Given the description of an element on the screen output the (x, y) to click on. 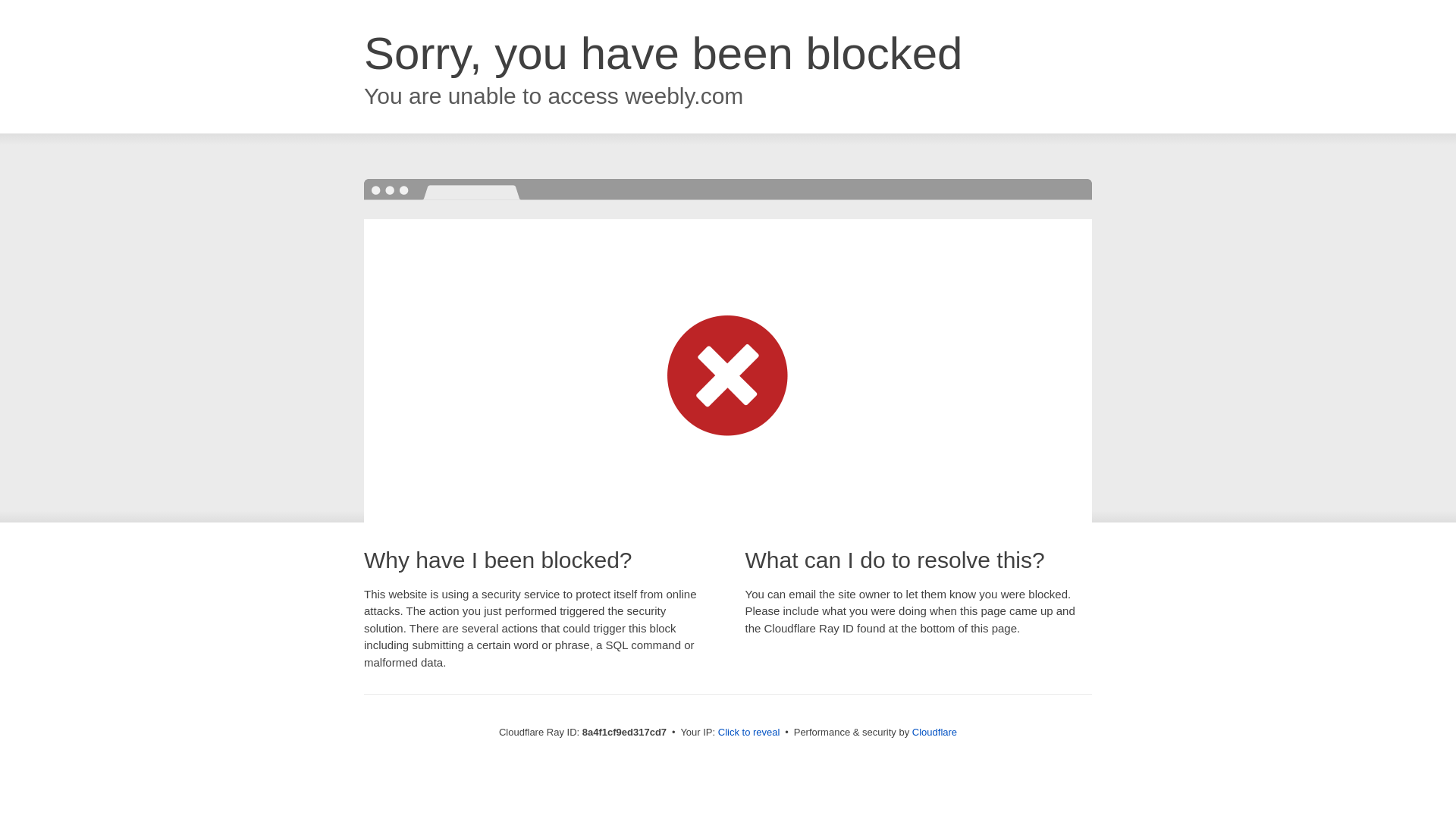
Click to reveal (748, 732)
Cloudflare (934, 731)
